Given the description of an element on the screen output the (x, y) to click on. 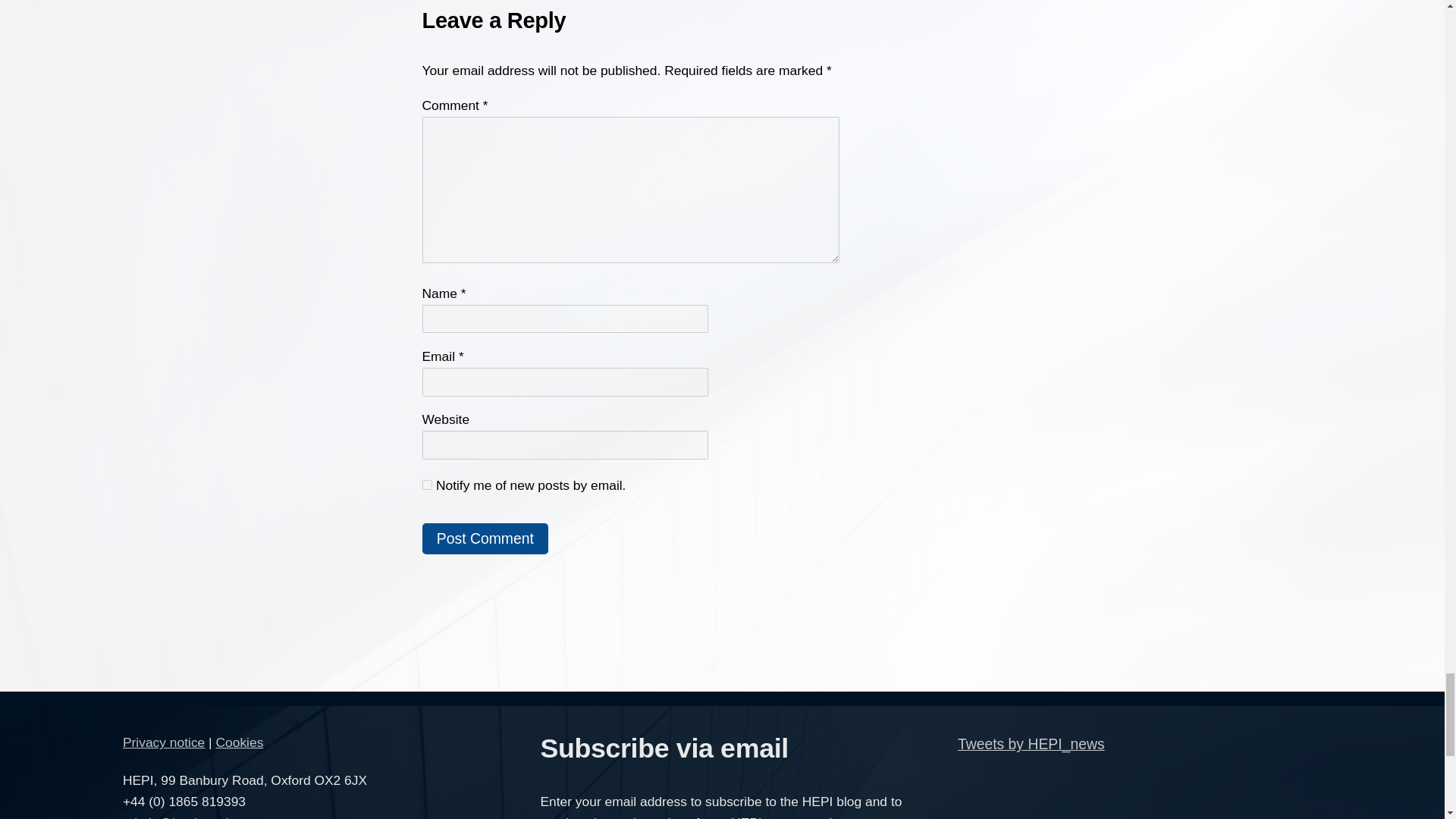
subscribe (426, 483)
Cookies (239, 742)
Email us (176, 816)
Privacy notice (163, 742)
Post Comment (485, 539)
Post Comment (485, 539)
